Given the description of an element on the screen output the (x, y) to click on. 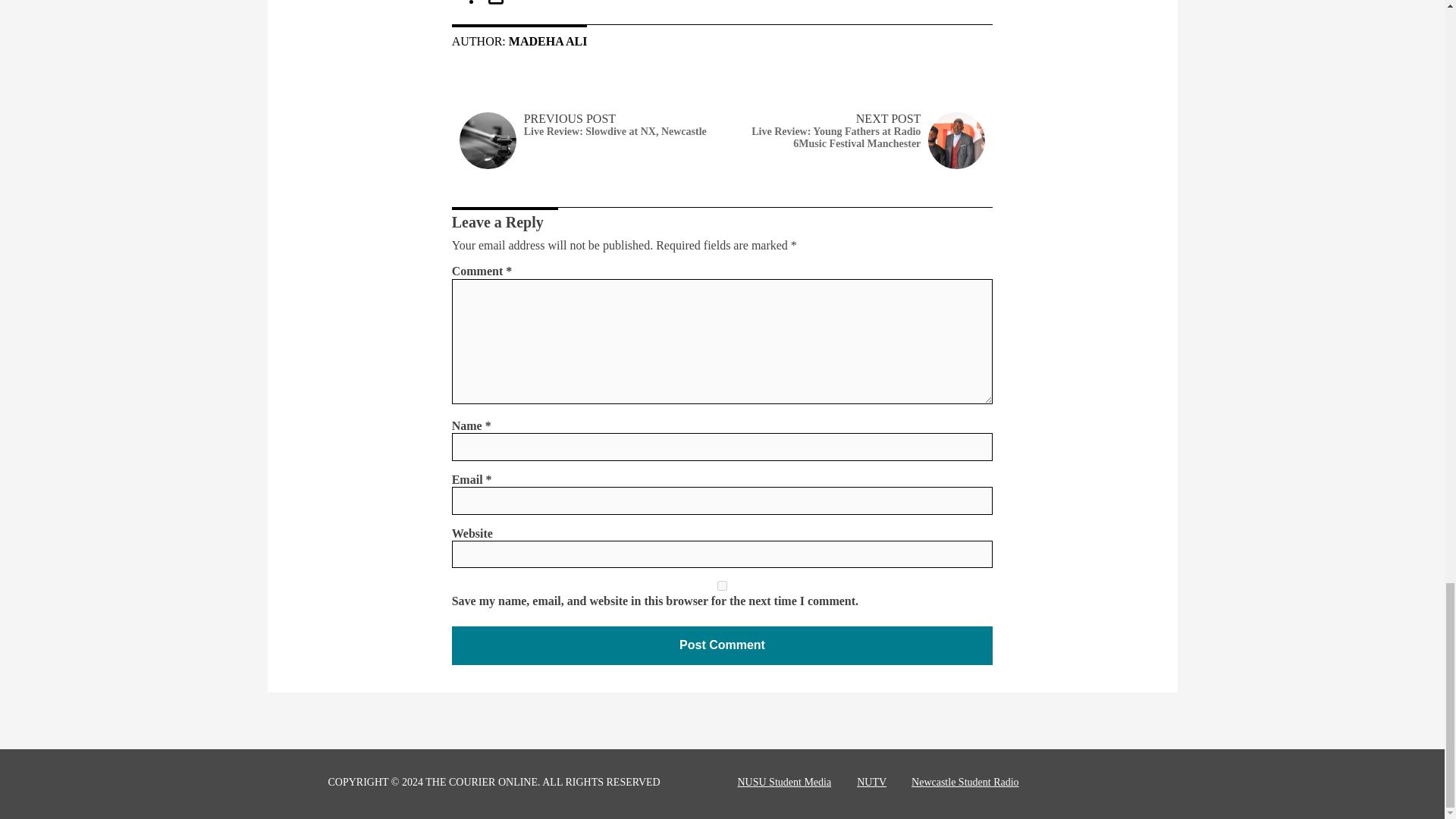
Post Comment (721, 645)
yes (721, 585)
